Given the description of an element on the screen output the (x, y) to click on. 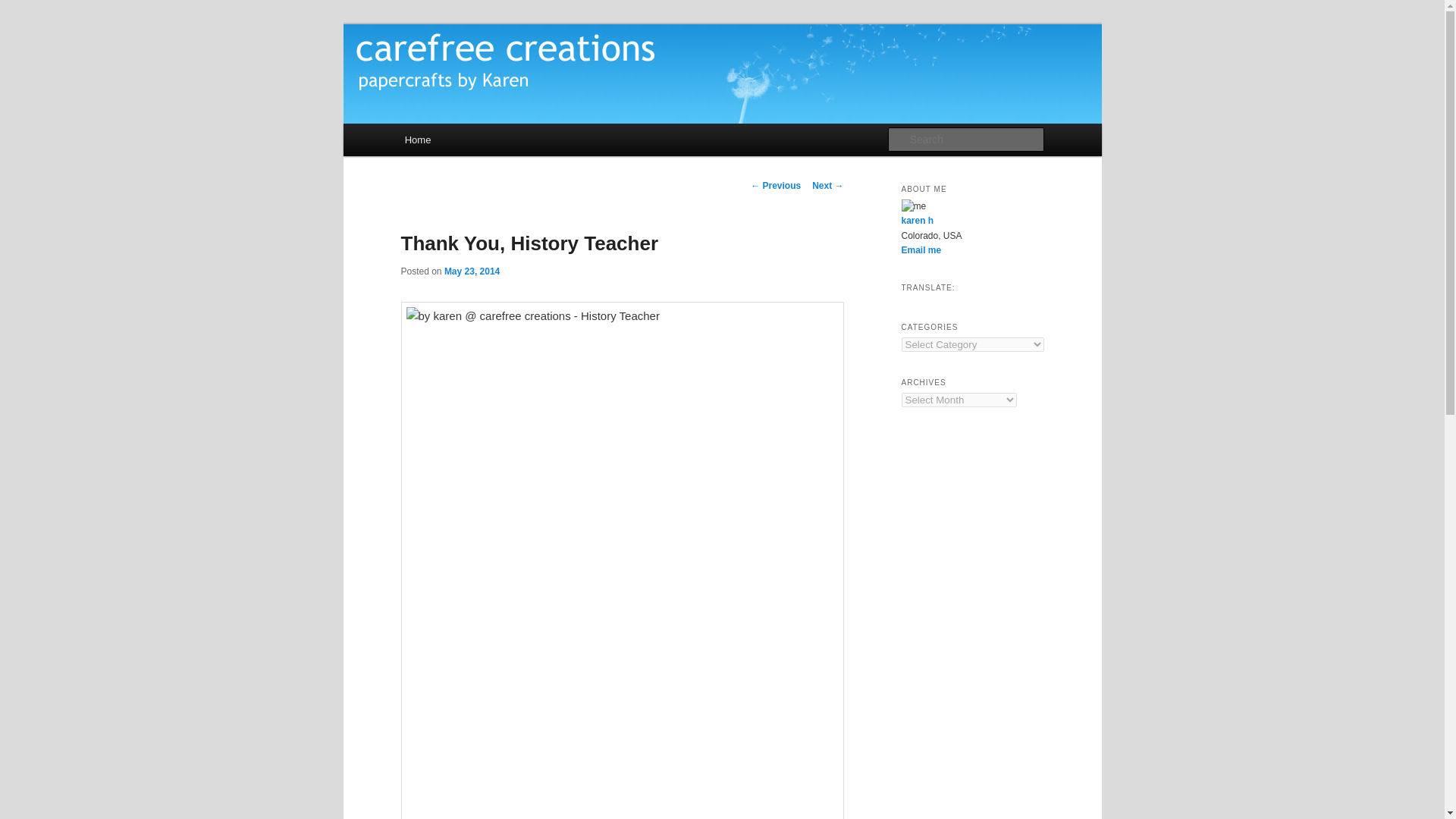
Email me (920, 249)
Home (417, 139)
karen h (917, 220)
May 23, 2014 (471, 271)
6:30 am (471, 271)
About Me (917, 220)
Carefree Creations (502, 78)
Search (19, 7)
